Given the description of an element on the screen output the (x, y) to click on. 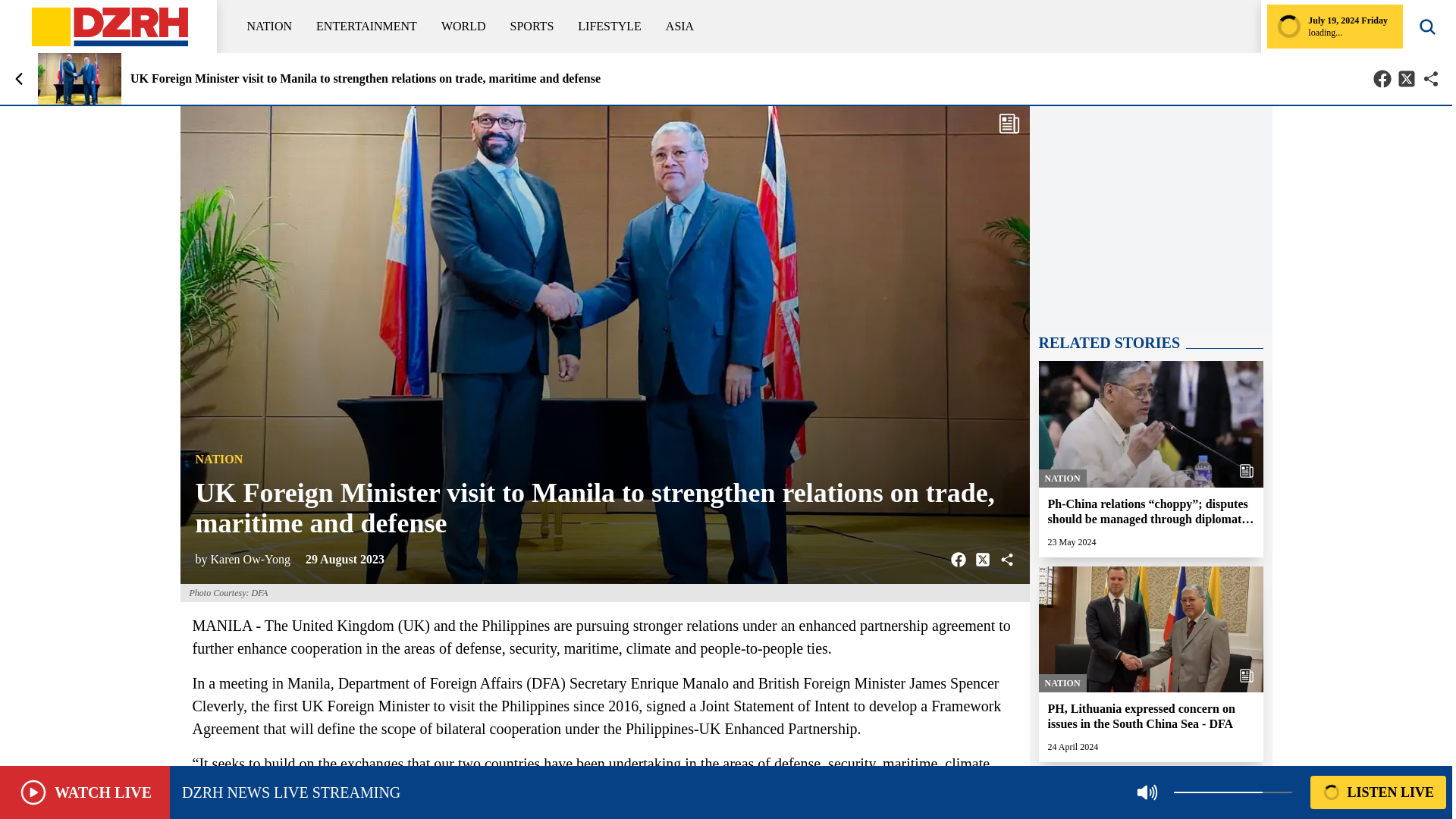
WORLD (463, 25)
NATION (269, 25)
LIFESTYLE (610, 25)
ASIA (679, 25)
SPORTS (532, 25)
ENTERTAINMENT (365, 25)
